Given the description of an element on the screen output the (x, y) to click on. 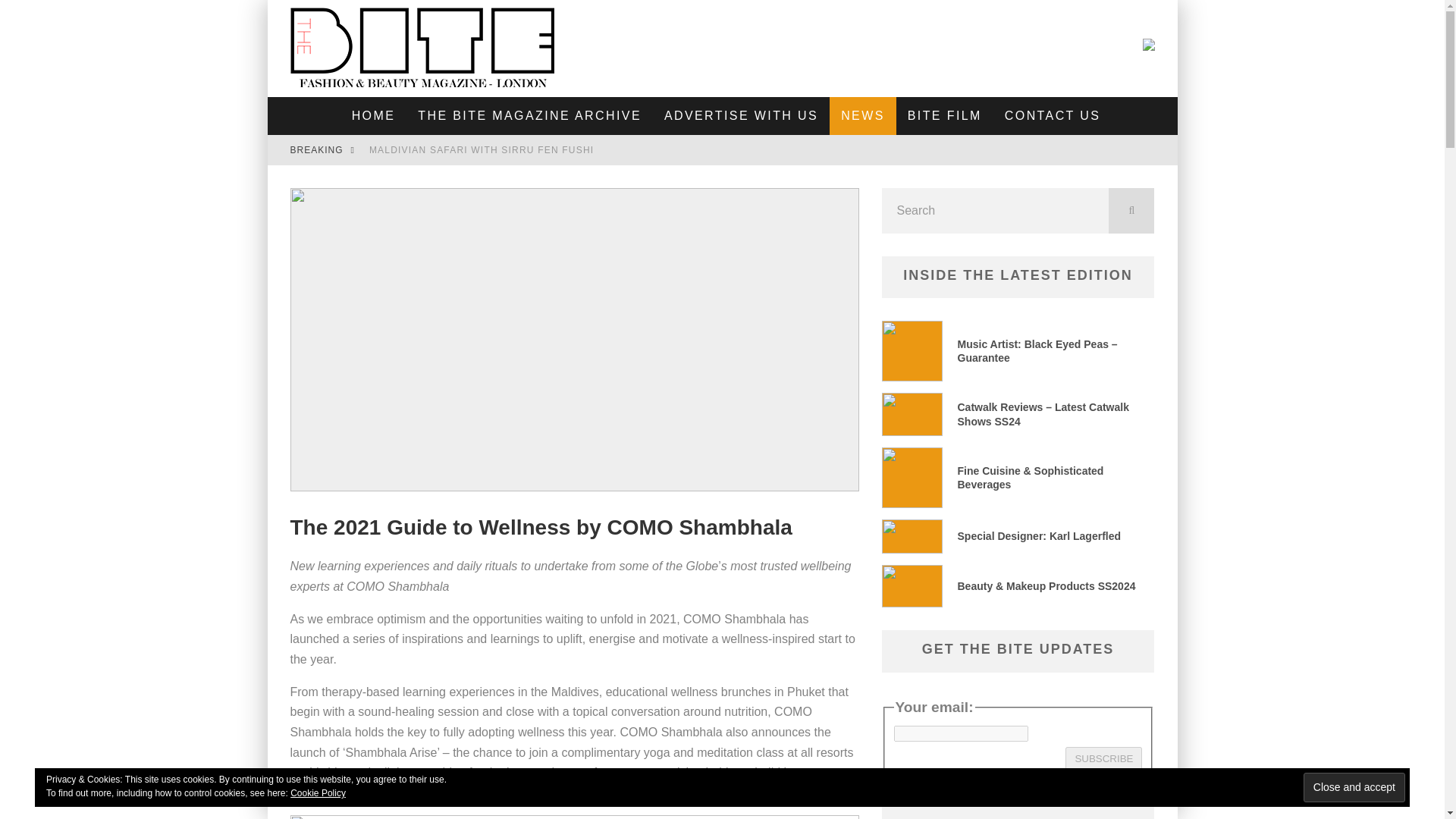
Subscribe (1103, 758)
NEWS (862, 116)
Close and accept (1354, 787)
BITE FILM (944, 116)
THE BITE MAGAZINE ARCHIVE (529, 116)
Maldivian Safari with Sirru Fen Fushi (481, 149)
ADVERTISE WITH US (740, 116)
HOME (373, 116)
